Given the description of an element on the screen output the (x, y) to click on. 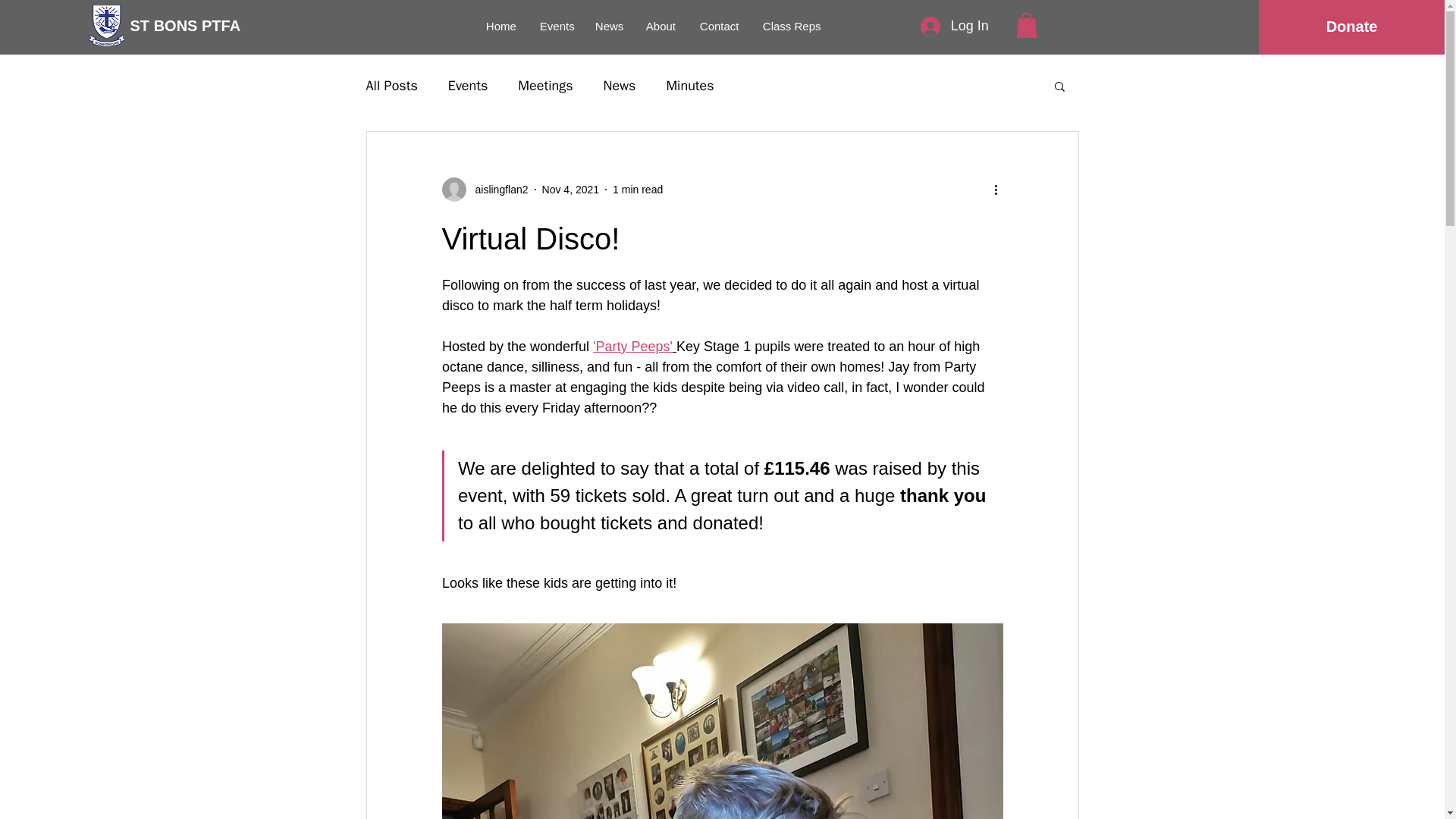
News (608, 26)
Donate (1351, 26)
aislingflan2 (496, 189)
Nov 4, 2021 (570, 189)
All Posts (390, 85)
Events (467, 85)
Contact (719, 26)
Events (555, 26)
logo-transparent.png (106, 24)
ST BONS PTFA (186, 25)
Log In (954, 26)
1 min read (637, 189)
'Party Peeps' (632, 346)
News (620, 85)
Meetings (545, 85)
